Given the description of an element on the screen output the (x, y) to click on. 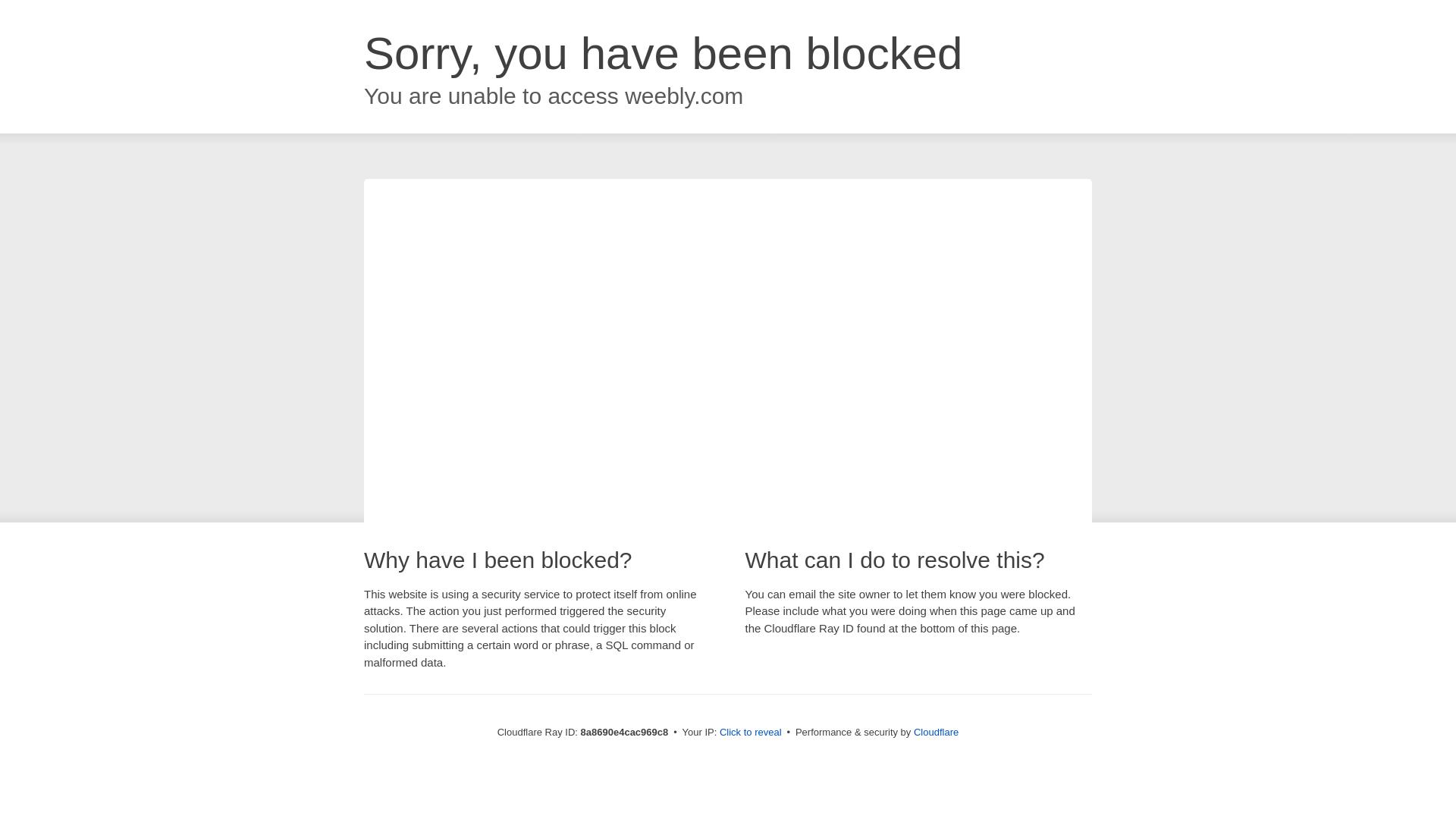
Click to reveal (750, 732)
Cloudflare (936, 731)
